Given the description of an element on the screen output the (x, y) to click on. 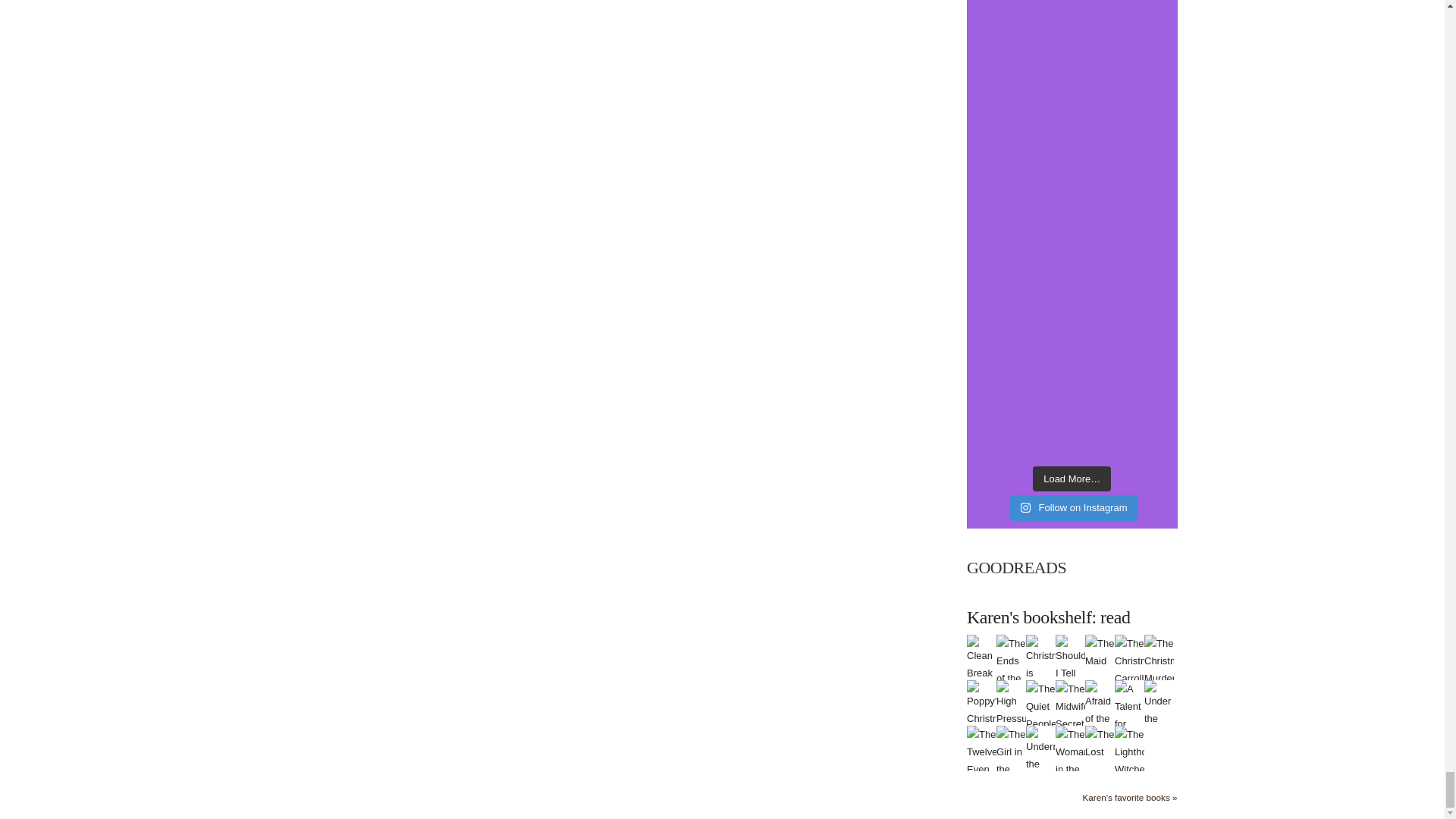
Clean Break (980, 657)
The Maid (1099, 651)
Christmas is Murder: A Chilling Short Story Collection (1040, 709)
The Christmas Carrolls (1129, 659)
The Ends of the Earth (1010, 668)
